Given the description of an element on the screen output the (x, y) to click on. 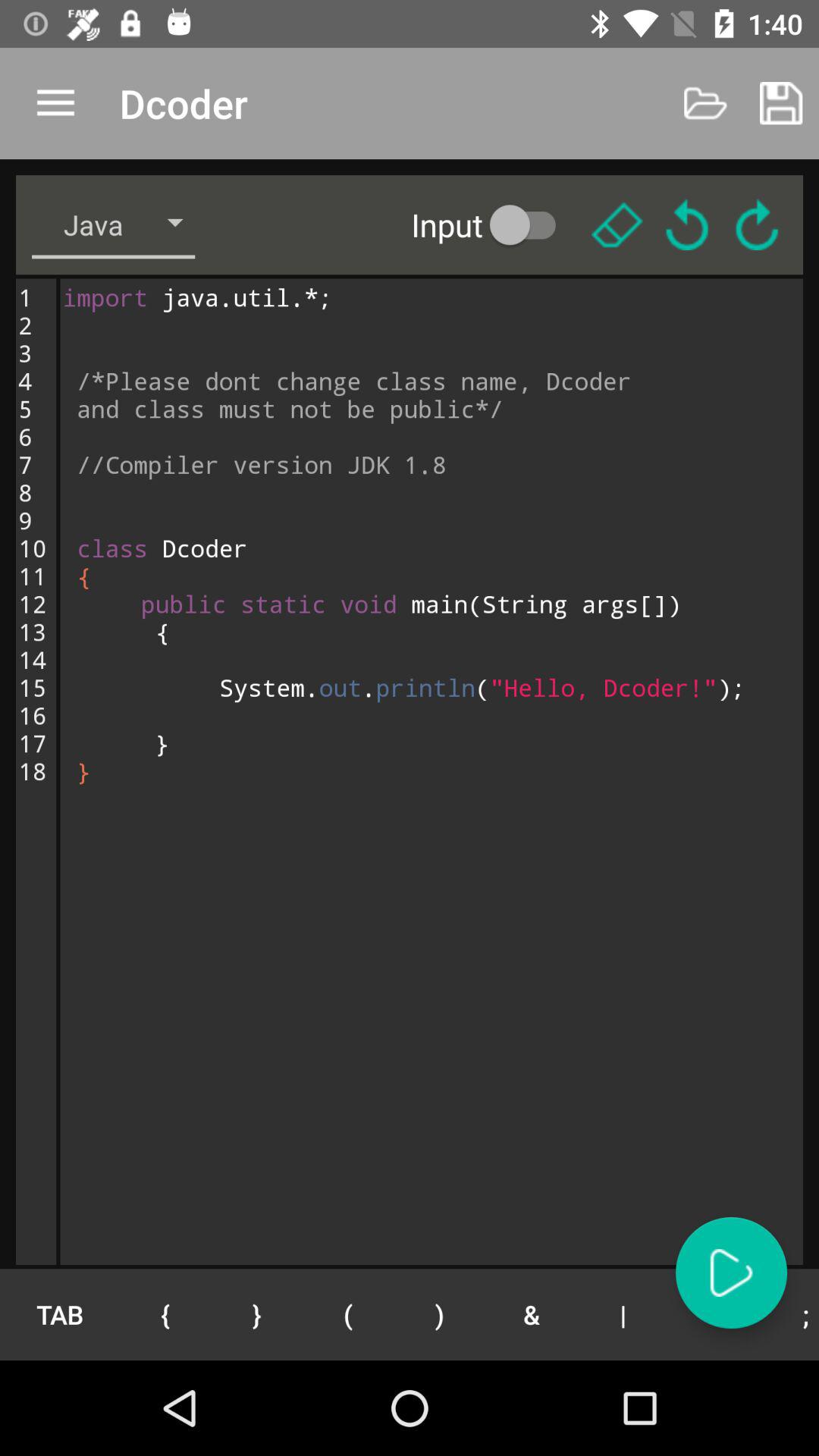
flip until 1 2 3 (35, 771)
